Given the description of an element on the screen output the (x, y) to click on. 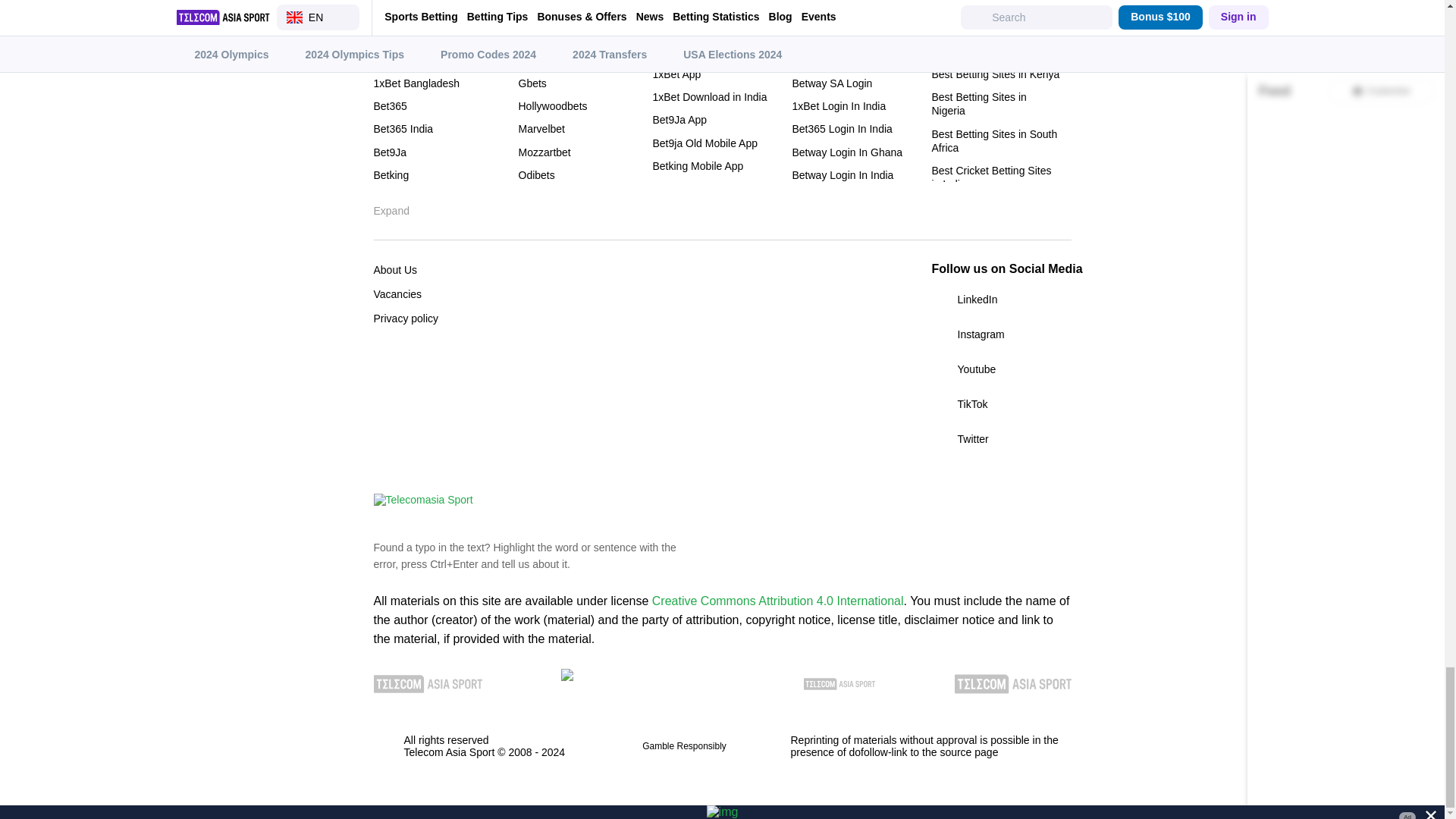
Youtube (1000, 369)
TikTok (1000, 403)
Instagram (1000, 334)
LinkedIn (1000, 299)
